Given the description of an element on the screen output the (x, y) to click on. 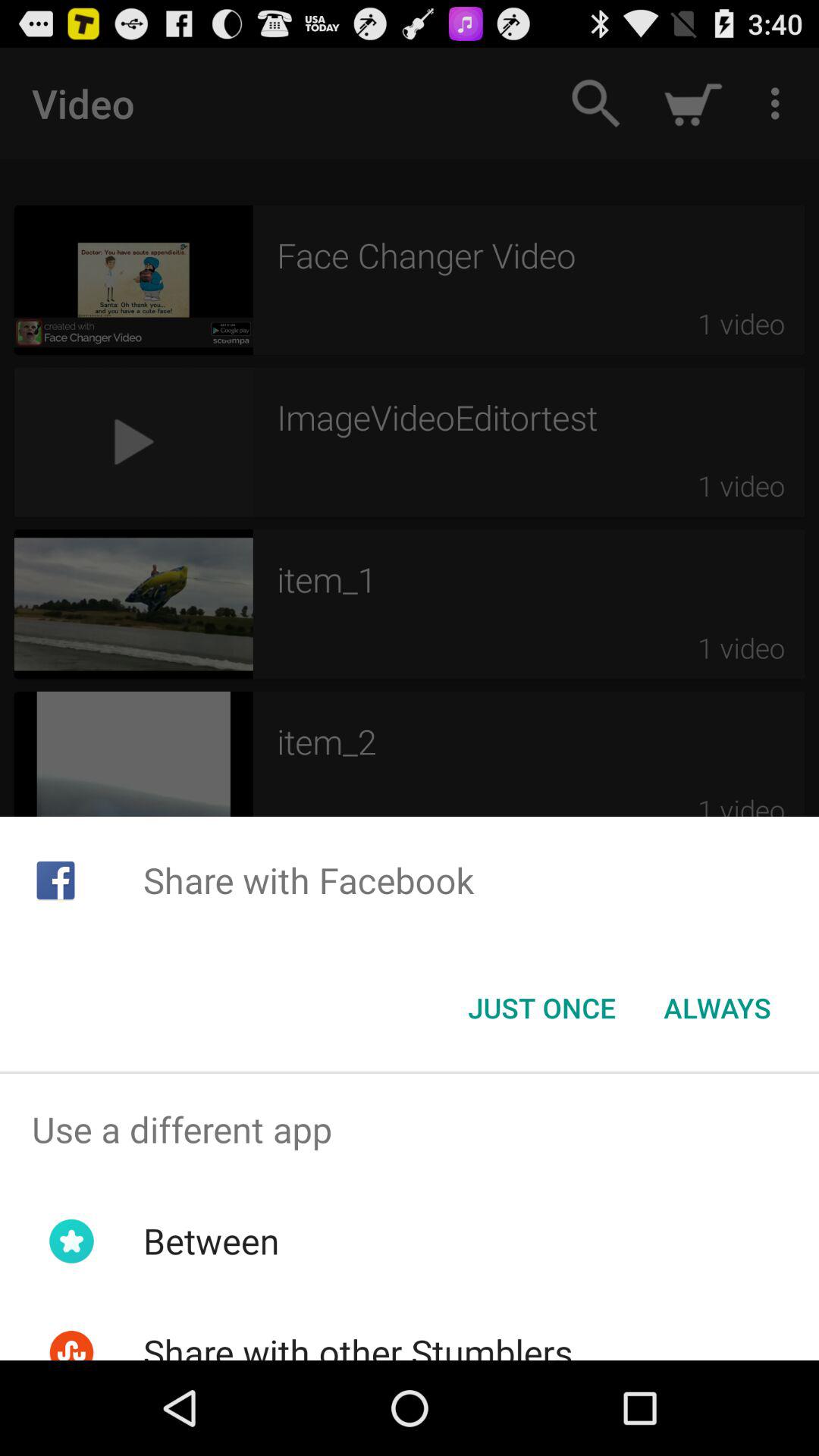
choose icon below the share with facebook app (717, 1007)
